Given the description of an element on the screen output the (x, y) to click on. 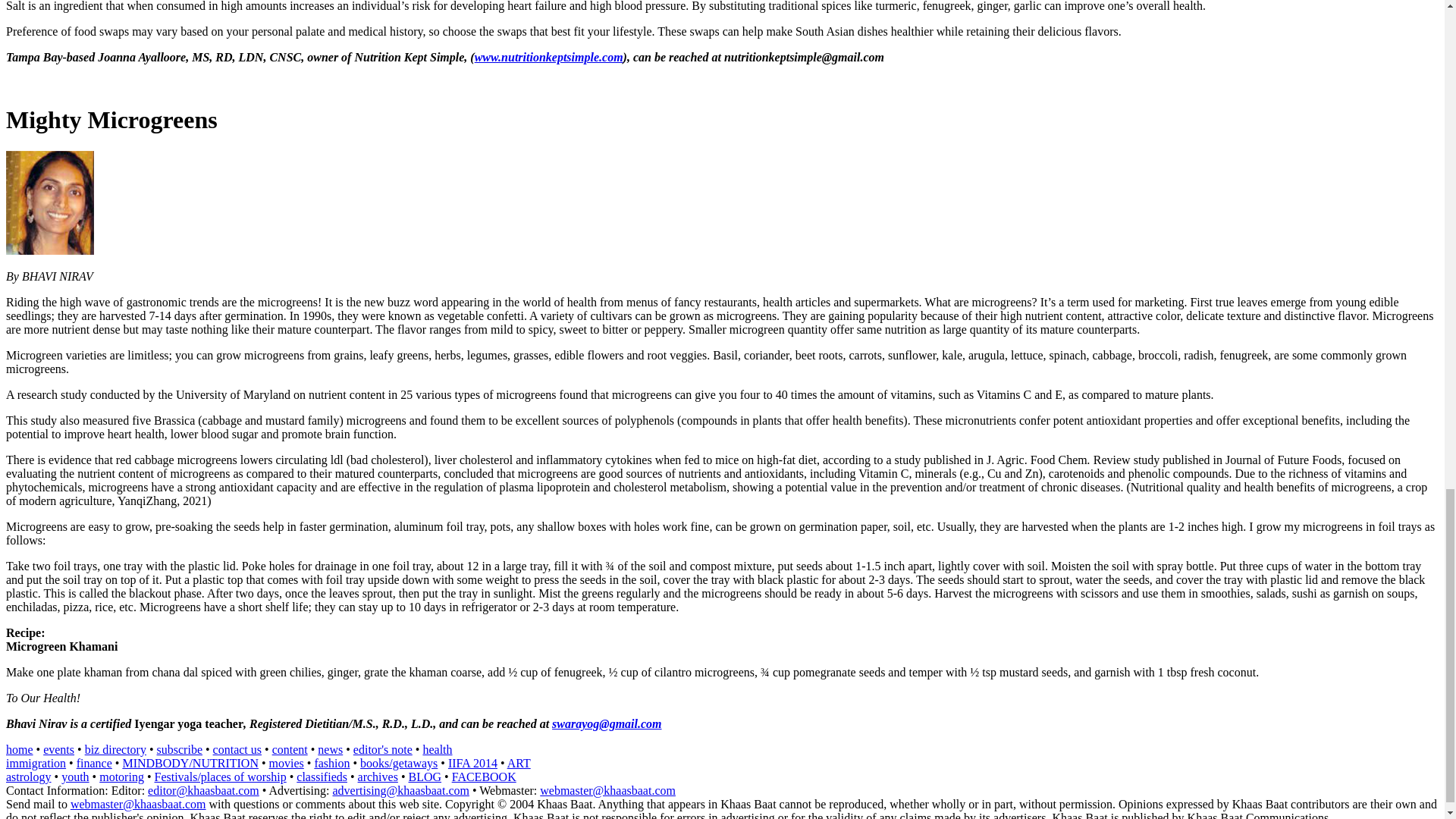
content (289, 748)
home (19, 748)
astrology (27, 776)
classifieds (322, 776)
motoring (121, 776)
subscribe (179, 748)
movies (286, 762)
archives (377, 776)
ART (518, 762)
events (58, 748)
BLOG (424, 776)
fashion (331, 762)
www.nutritionkeptsimple.com (548, 56)
youth (74, 776)
health (436, 748)
